Given the description of an element on the screen output the (x, y) to click on. 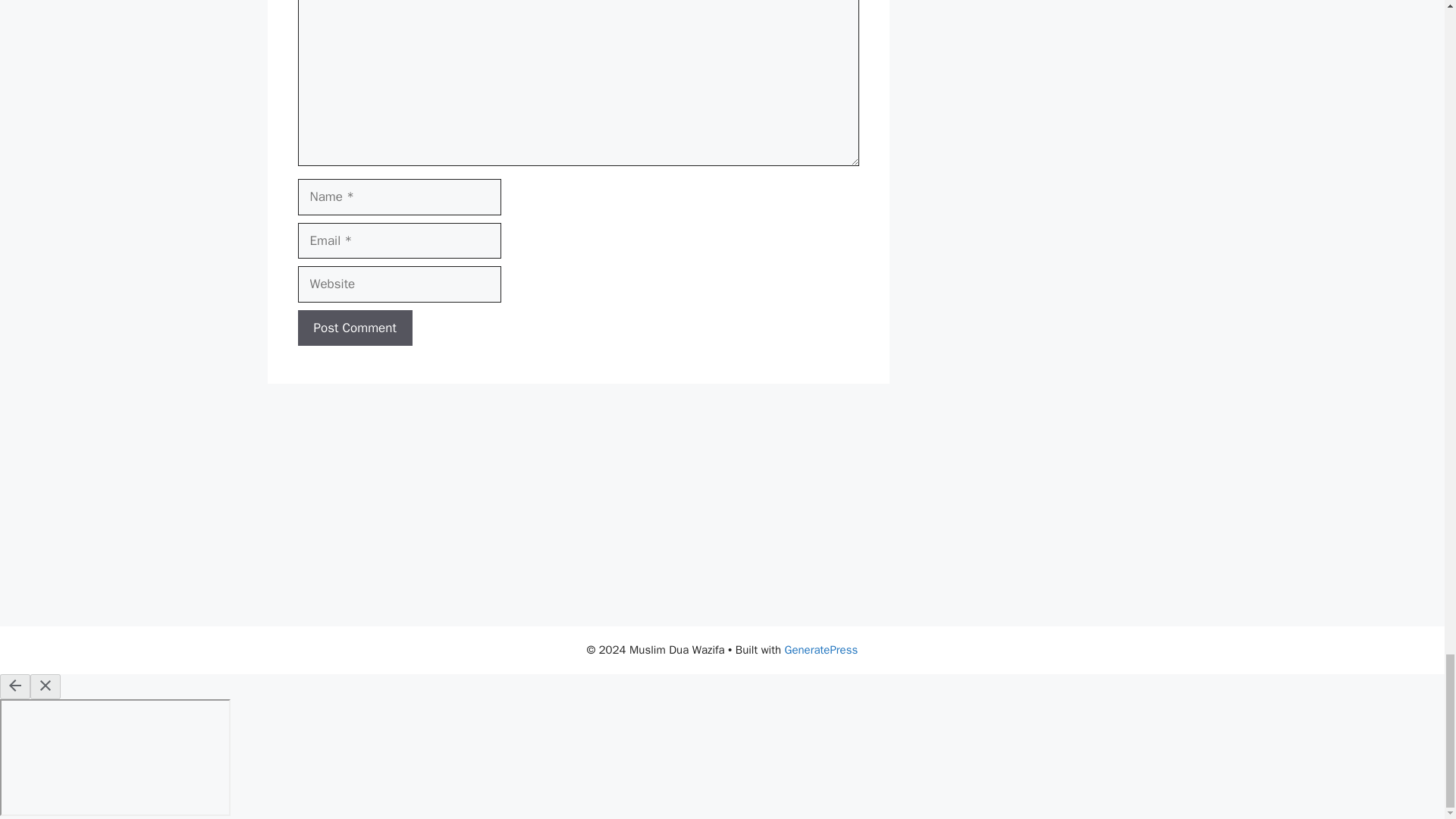
Post Comment (354, 328)
Post Comment (354, 328)
